Given the description of an element on the screen output the (x, y) to click on. 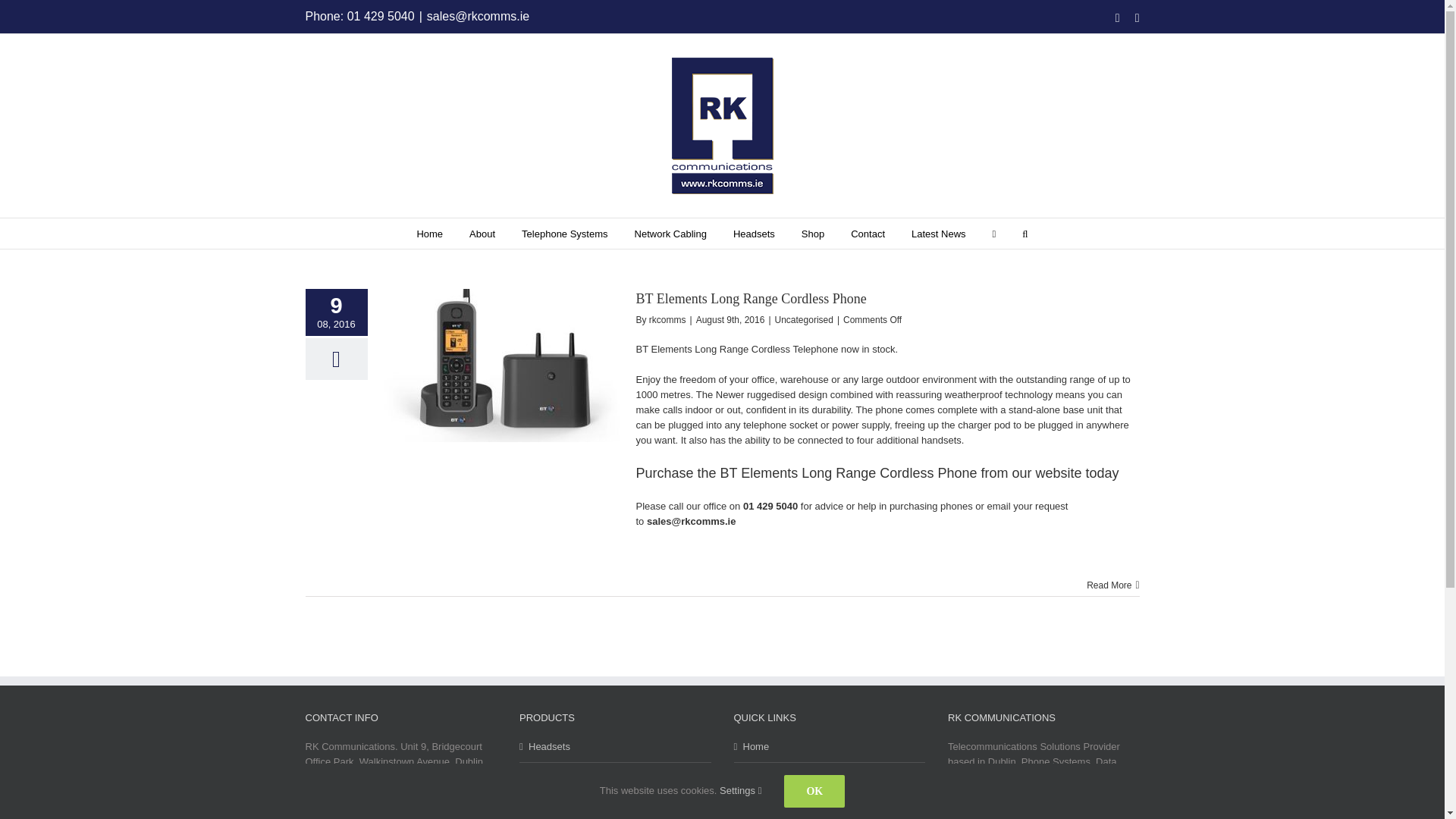
Headsets (753, 233)
Posts by rkcomms (667, 319)
Network Cabling (670, 233)
Latest News (938, 233)
Telephone Systems (564, 233)
Contact (867, 233)
Home (1074, 213)
